Given the description of an element on the screen output the (x, y) to click on. 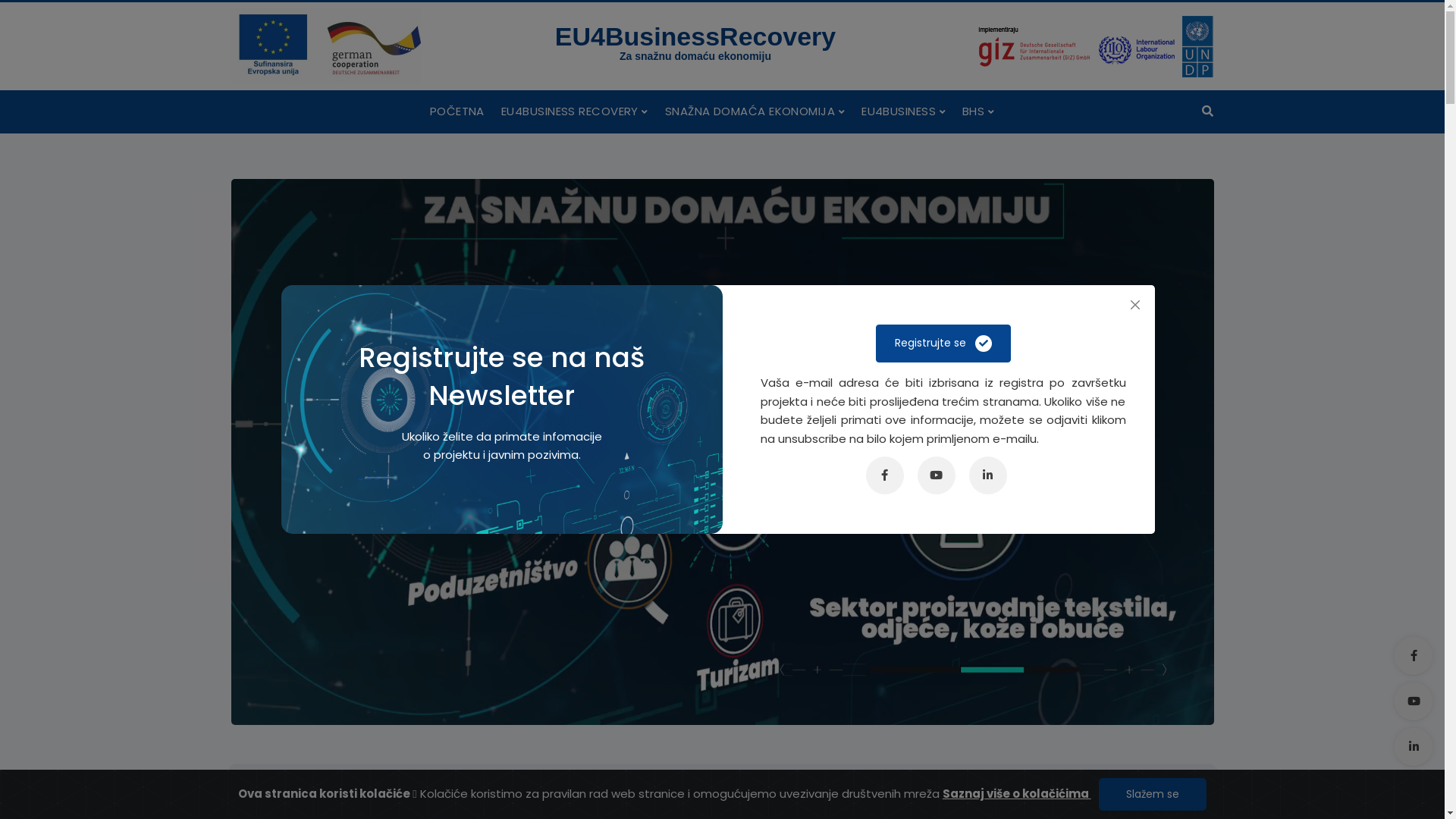
EU4BUSINESS Element type: text (903, 111)
EU4BUSINESS RECOVERY Element type: text (574, 111)
AKTUELNO Element type: text (448, 800)
BHS Element type: text (977, 111)
Registrujte se Element type: text (942, 343)
